Given the description of an element on the screen output the (x, y) to click on. 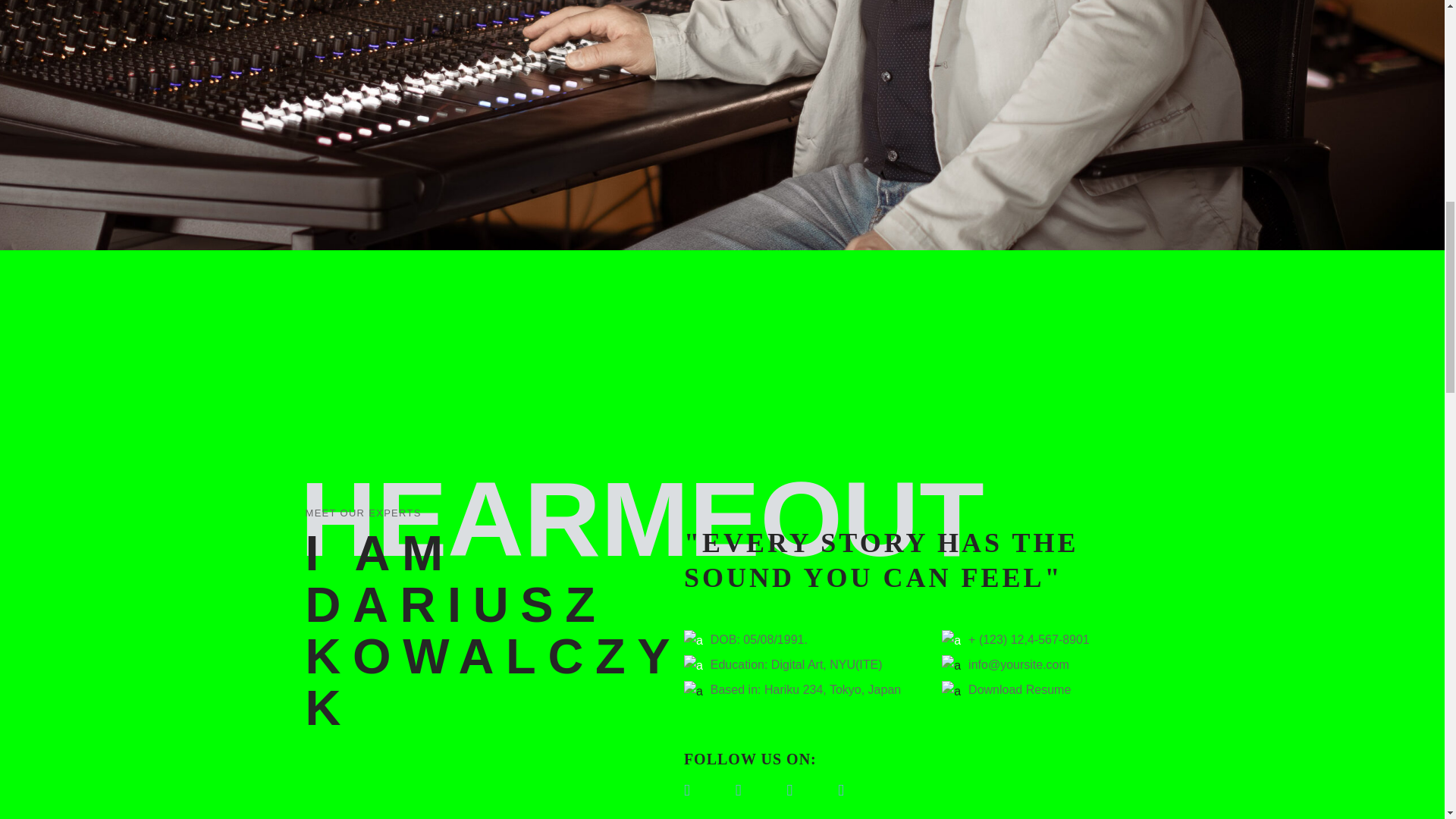
Based in: Hariku 234, Tokyo, Japan (792, 690)
Download Resume (1006, 690)
